Given the description of an element on the screen output the (x, y) to click on. 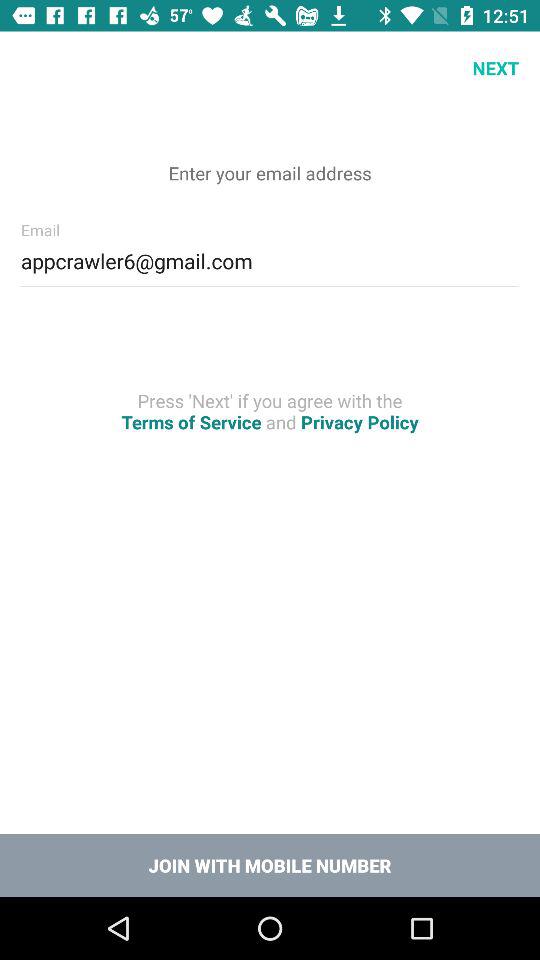
press the icon below the appcrawler6@gmail.com (270, 411)
